Given the description of an element on the screen output the (x, y) to click on. 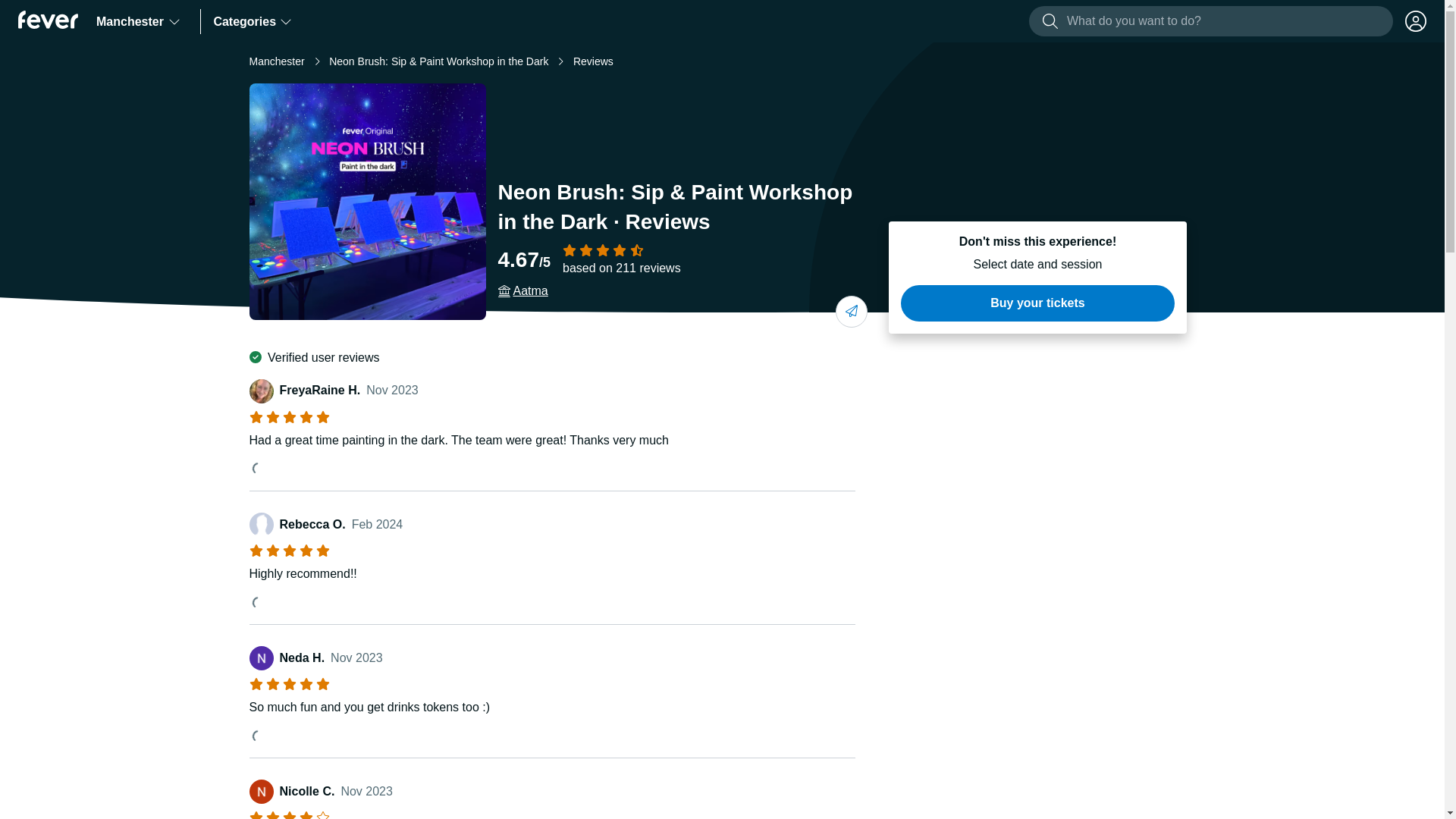
Categories (251, 21)
Manchester (139, 21)
